Given the description of an element on the screen output the (x, y) to click on. 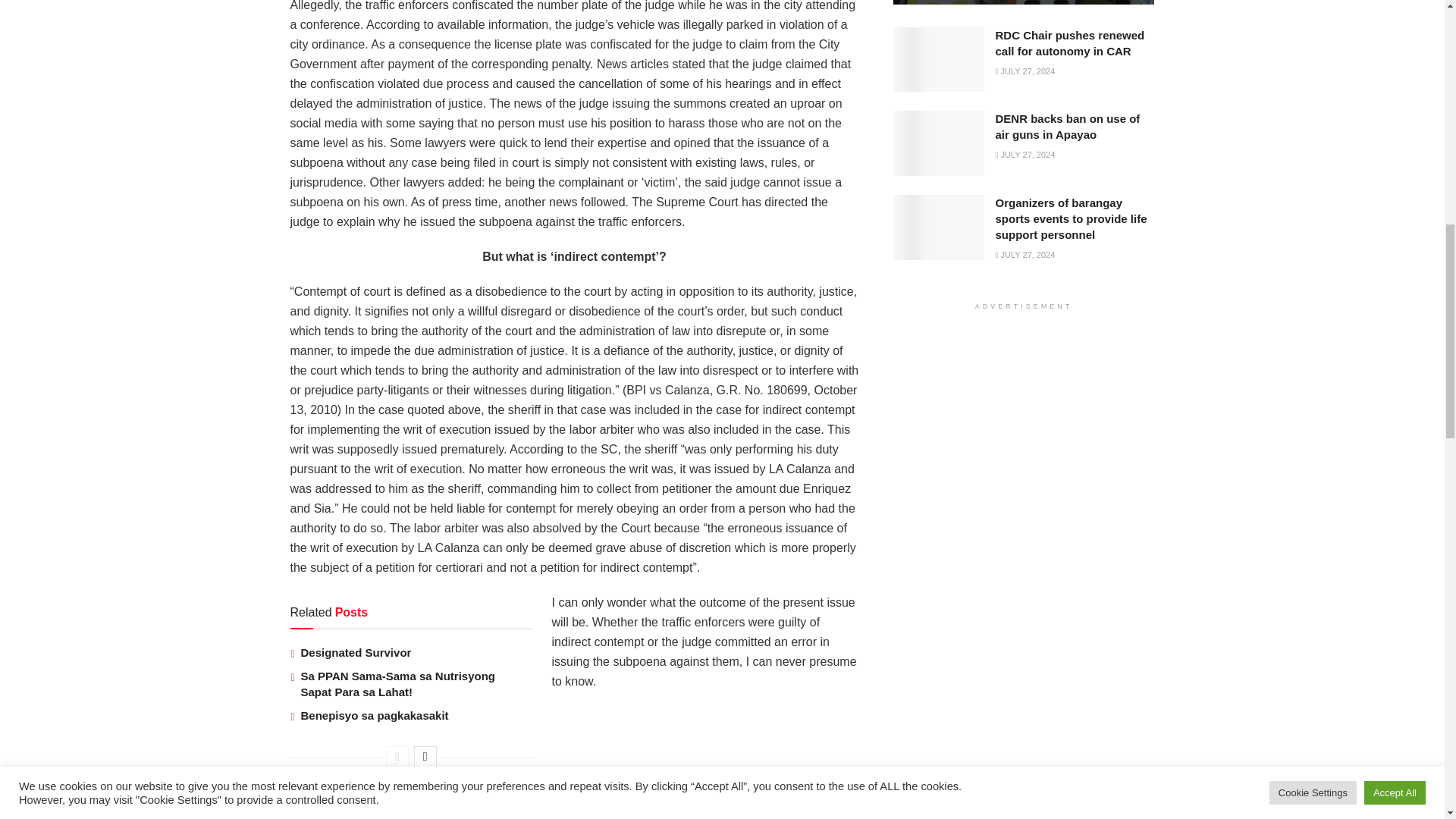
Previous (397, 756)
Next (424, 756)
